Given the description of an element on the screen output the (x, y) to click on. 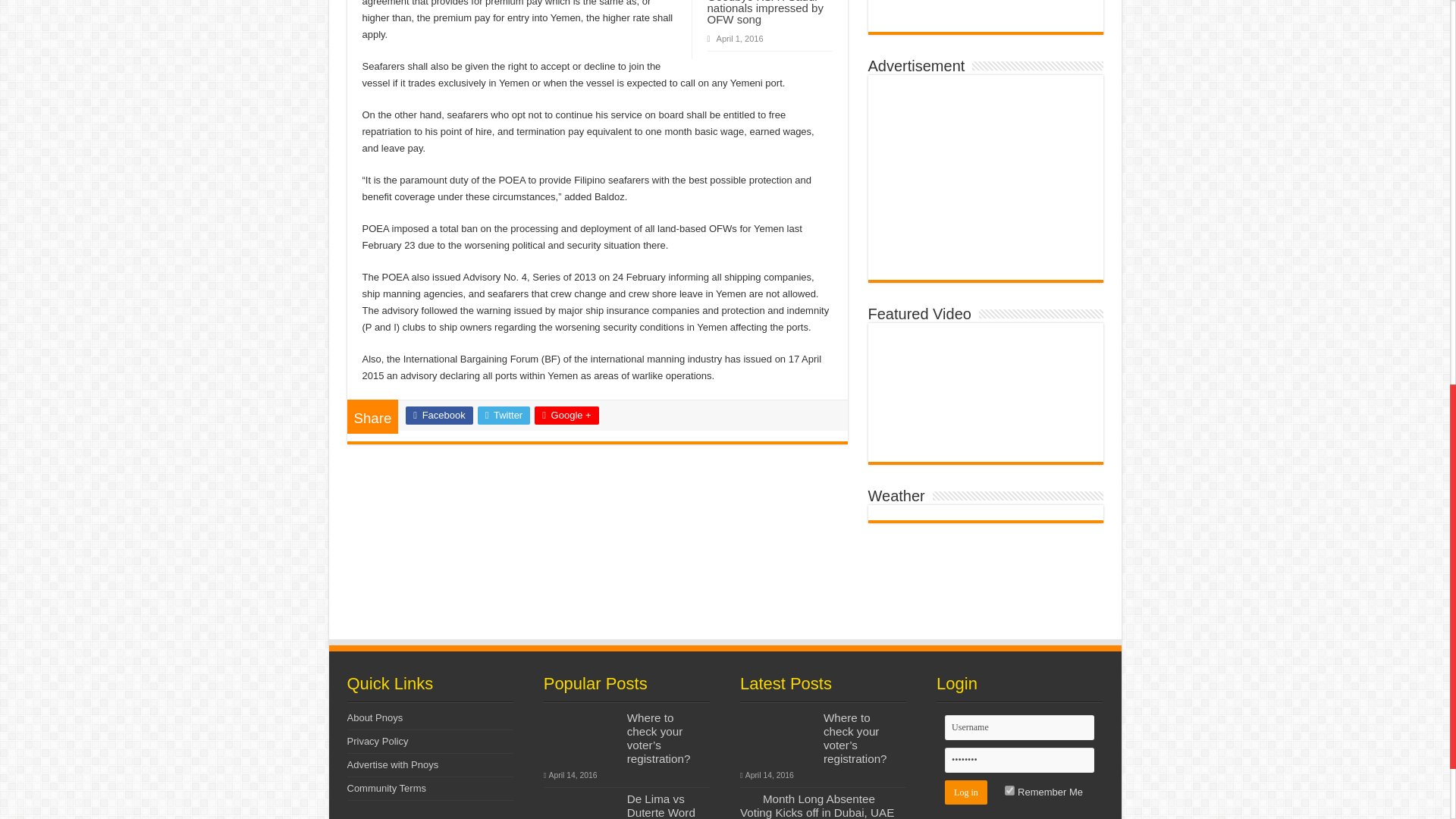
forever (1009, 790)
Username (1019, 727)
Password (1019, 760)
Log in (965, 792)
